Given the description of an element on the screen output the (x, y) to click on. 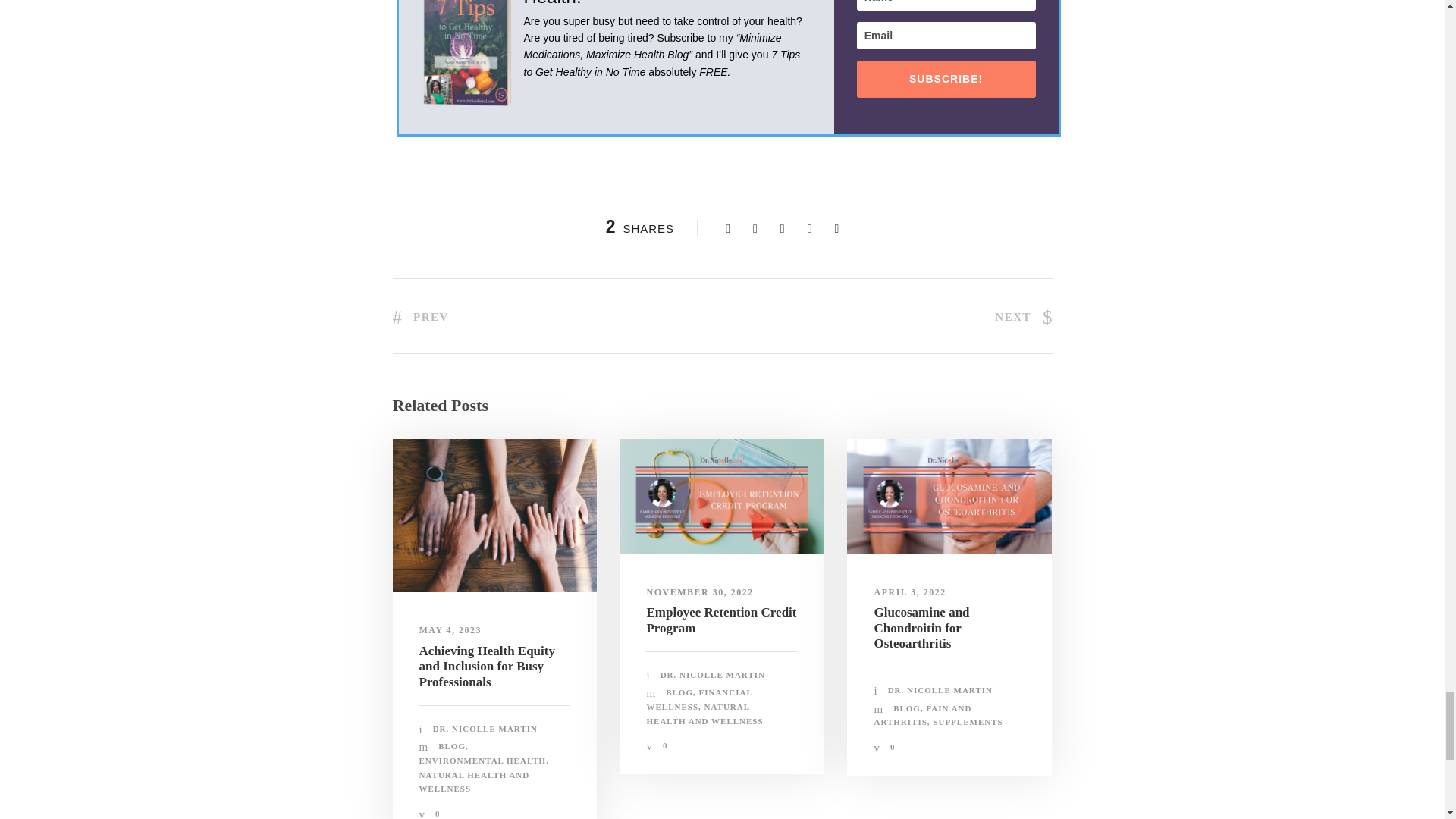
Employee Retention Credit Program (722, 496)
Glucosamine and Chondroitin for Osteoarthritis (949, 496)
Posts by Dr. Nicolle Martin (713, 674)
diverse people with hands resting on a table (494, 515)
Posts by Dr. Nicolle Martin (940, 689)
Posts by Dr. Nicolle Martin (484, 728)
